Given the description of an element on the screen output the (x, y) to click on. 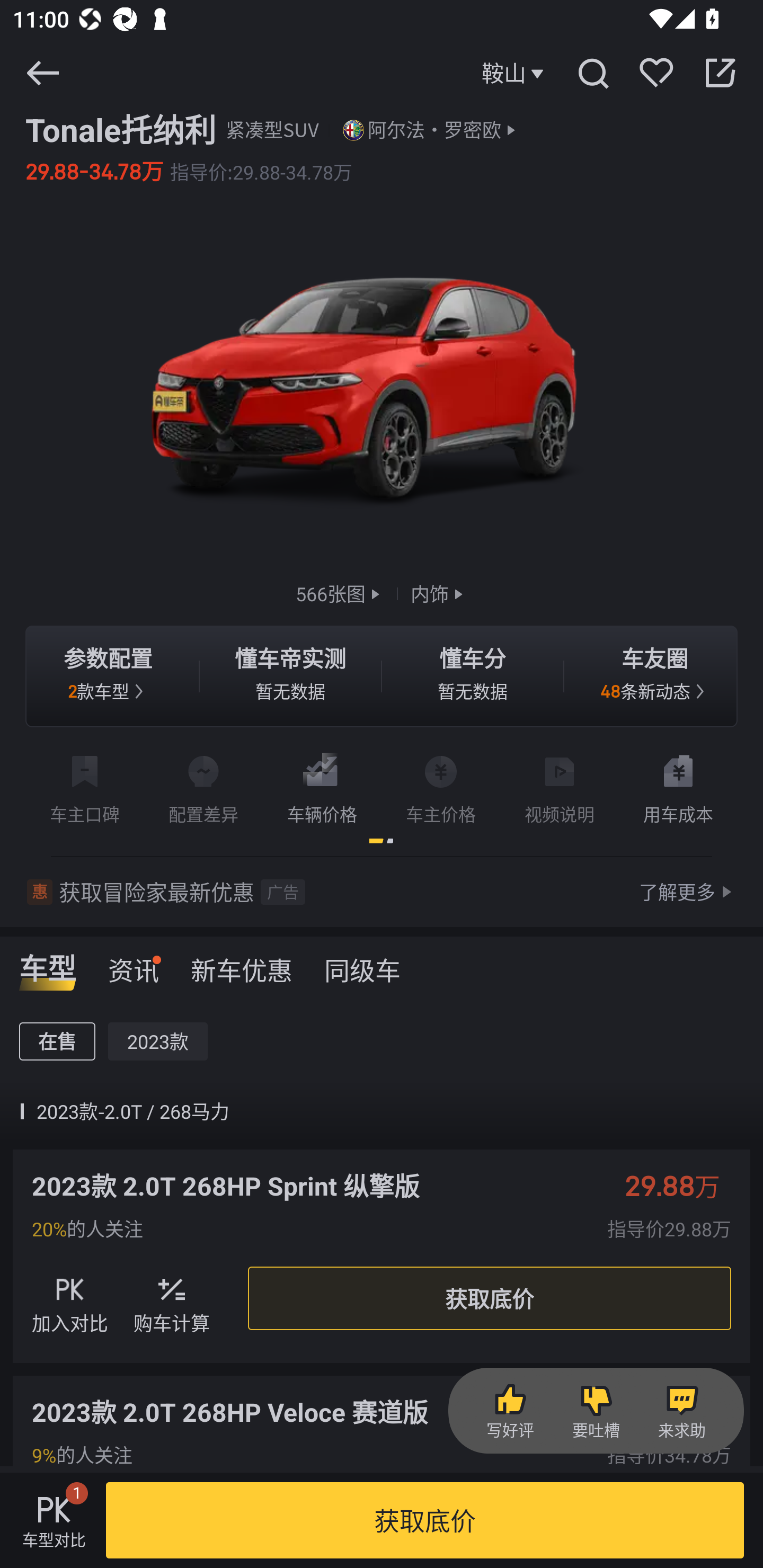
 (42, 72)
 (592, 72)
 (720, 72)
鞍山 (514, 73)
阿尔法·罗密欧 (434, 130)
指导价:29.88-34.78万 (261, 171)
566张图 (340, 593)
内饰 (438, 593)
参数配置 2 款车型  (107, 676)
懂车帝实测 暂无数据 (290, 676)
懂车分 暂无数据 (472, 676)
车友圈 48 条新动态  (654, 676)
车主口碑 (84, 786)
配置差异 (203, 786)
车辆价格 (321, 786)
车主价格 (440, 786)
视频说明 (559, 786)
用车成本 (677, 786)
惠 获取冒险家最新优惠 广告 了解更多  (381, 891)
车型 (47, 964)
资讯 (133, 964)
新车优惠 (241, 964)
同级车 (362, 964)
在售 (57, 1040)
2023款 (157, 1040)
29.88 万 (681, 1185)
加入对比 (70, 1297)
 购车计算 (171, 1297)
获取底价 (489, 1298)
写好评 (510, 1410)
要吐槽 (595, 1410)
来求助 (681, 1410)
车型对比 (53, 1520)
获取底价 (424, 1519)
